Given the description of an element on the screen output the (x, y) to click on. 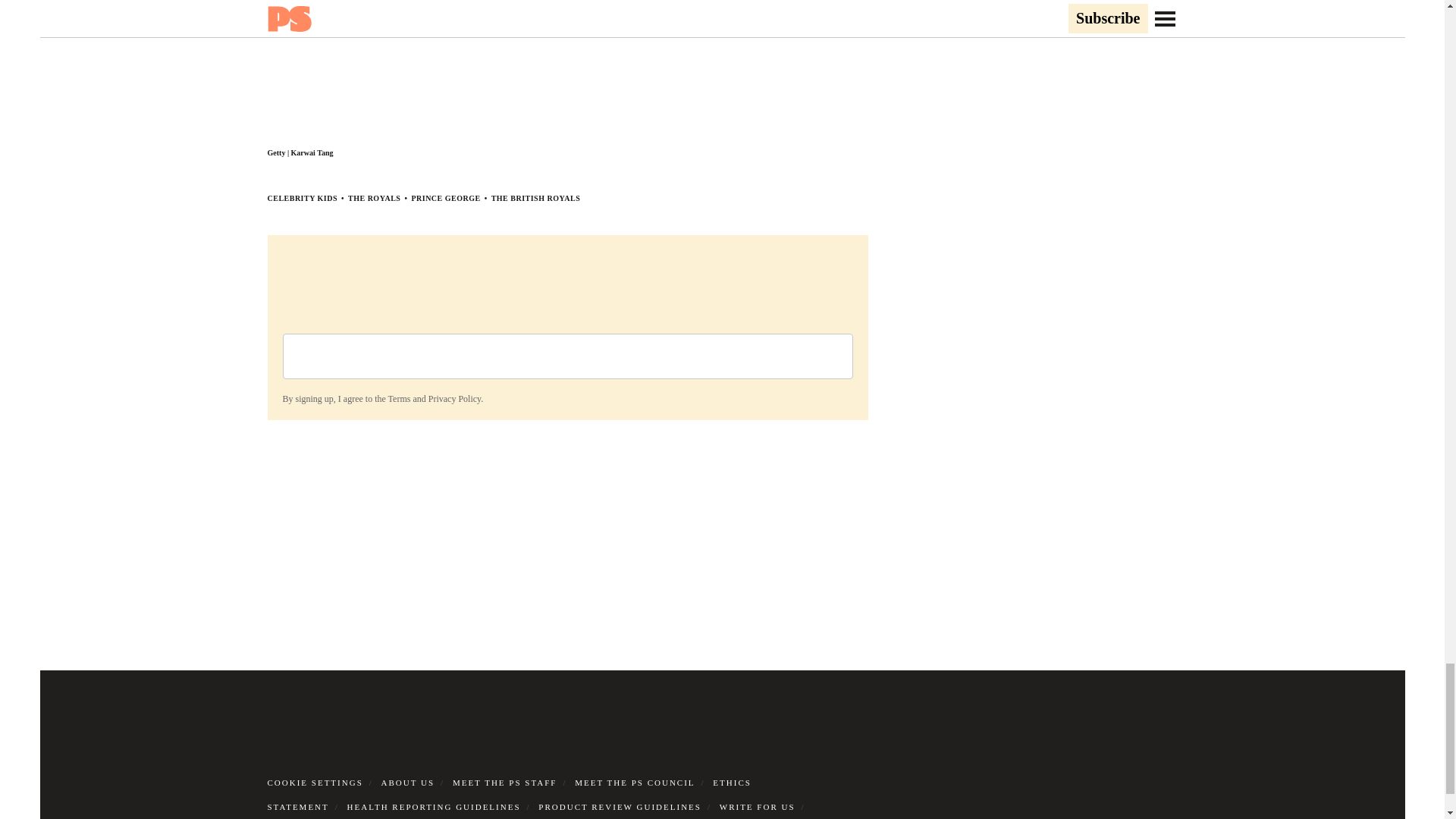
CELEBRITY KIDS (301, 198)
HEALTH REPORTING GUIDELINES (434, 806)
Terms (399, 398)
MEET THE PS COUNCIL (634, 782)
WRITE FOR US (756, 806)
PRODUCT REVIEW GUIDELINES (619, 806)
Privacy Policy. (455, 398)
MEET THE PS STAFF (504, 782)
THE ROYALS (373, 198)
ABOUT US (408, 782)
THE BRITISH ROYALS (536, 198)
ETHICS STATEMENT (508, 794)
PRINCE GEORGE (445, 198)
